Given the description of an element on the screen output the (x, y) to click on. 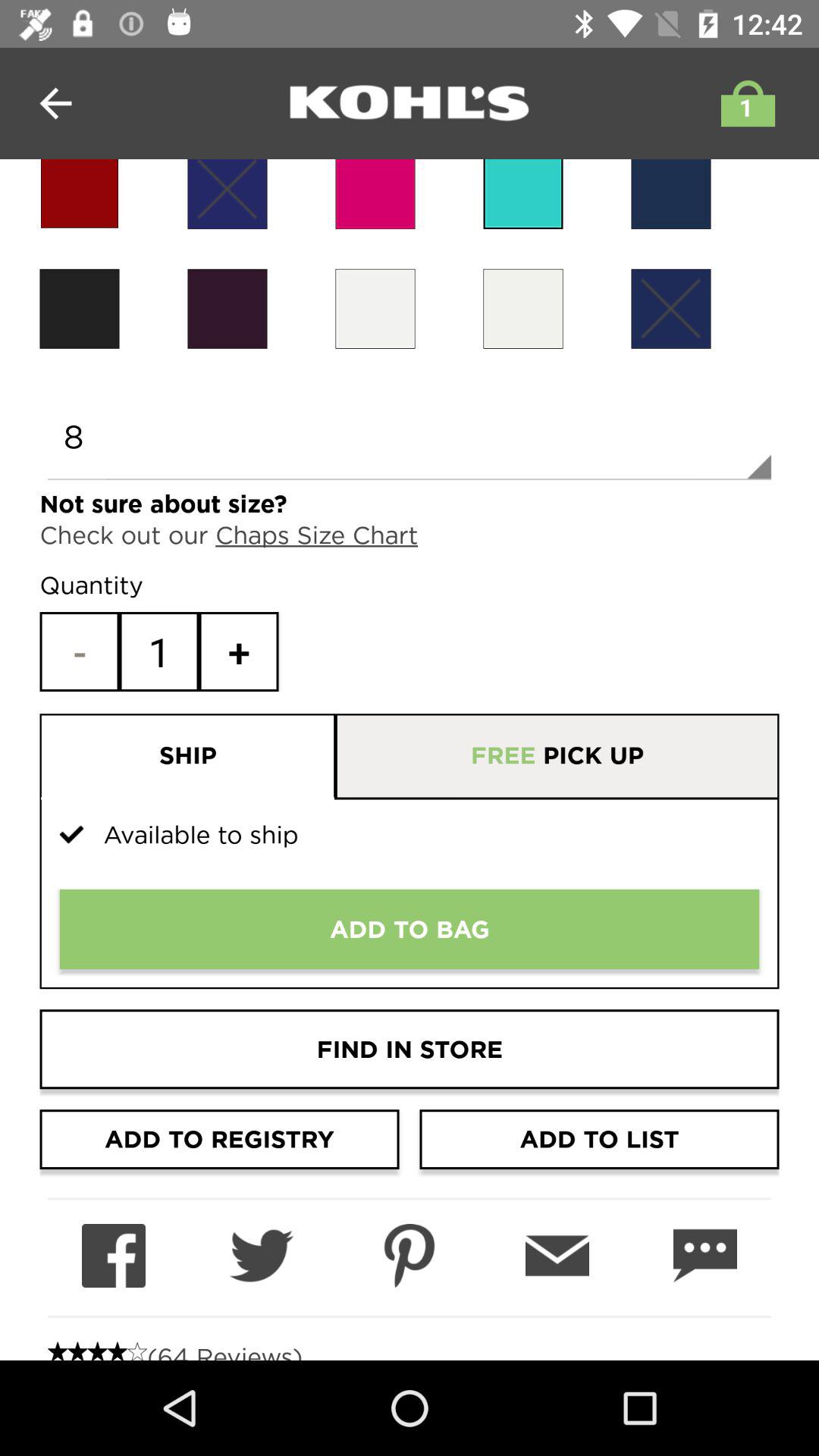
select tan color (375, 308)
